Given the description of an element on the screen output the (x, y) to click on. 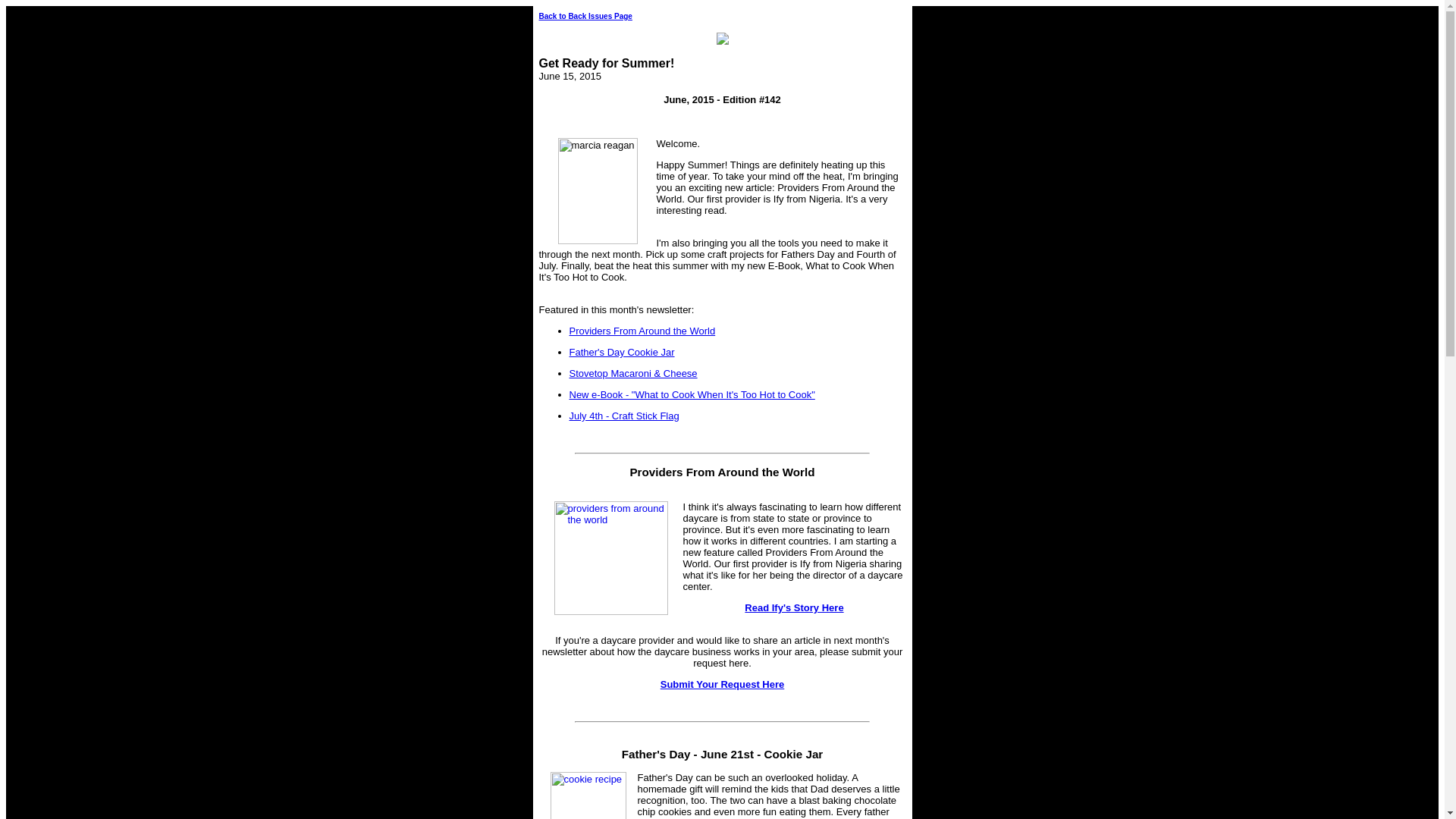
Father's Day Cookie Jar (737, 356)
New e-Book - "What to Cook When It's Too Hot to Cook" (737, 399)
Providers From Around the World (737, 335)
Providers From Around the World (720, 472)
Father's Day - June 21st - Cookie Jar (722, 753)
July 4th - Craft Stick Flag (623, 415)
Back to Back Issues Page (584, 16)
Read Ify's Story Here (793, 607)
Submit Your Request Here (722, 684)
